Given the description of an element on the screen output the (x, y) to click on. 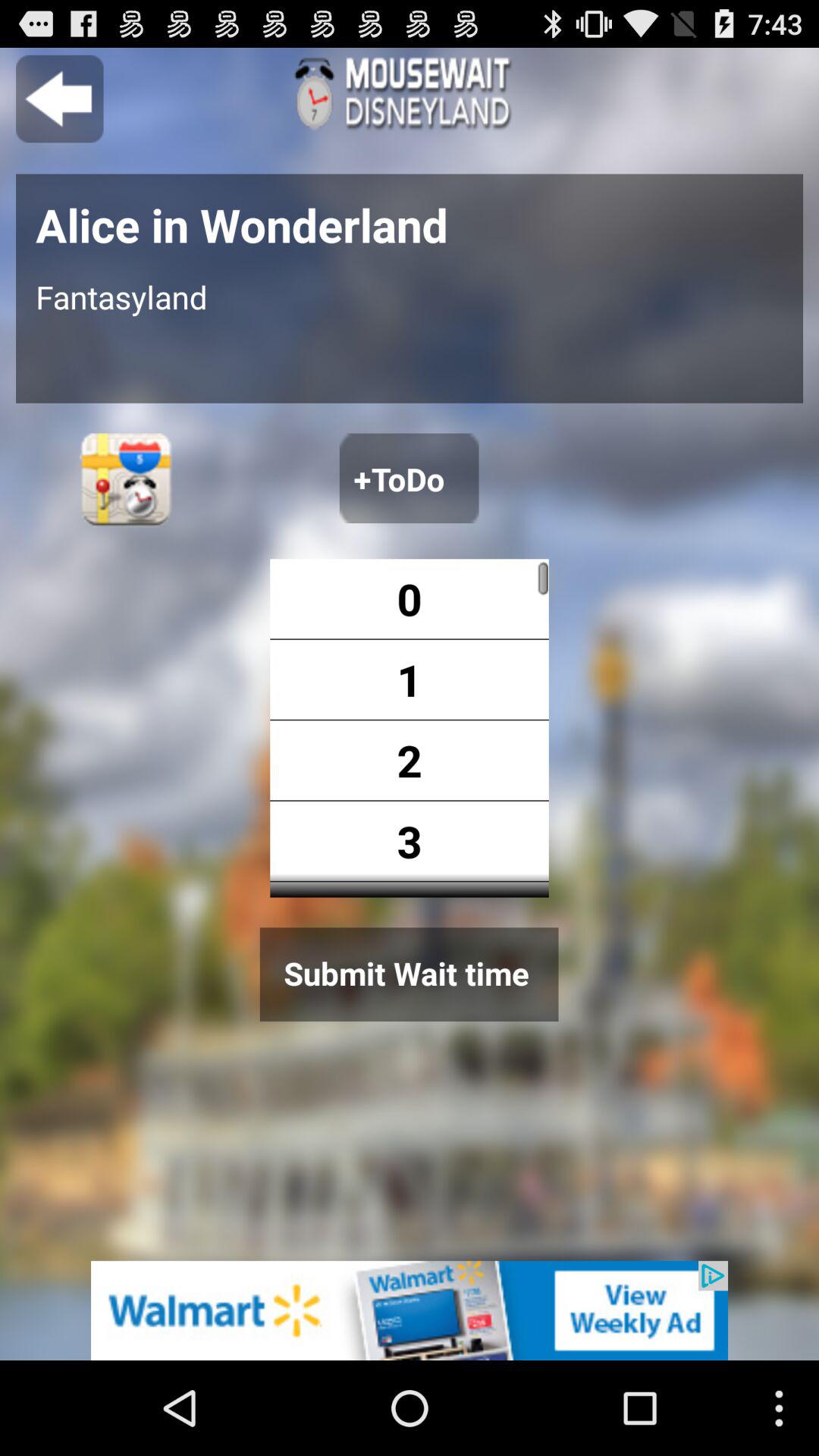
go to back (59, 98)
